Given the description of an element on the screen output the (x, y) to click on. 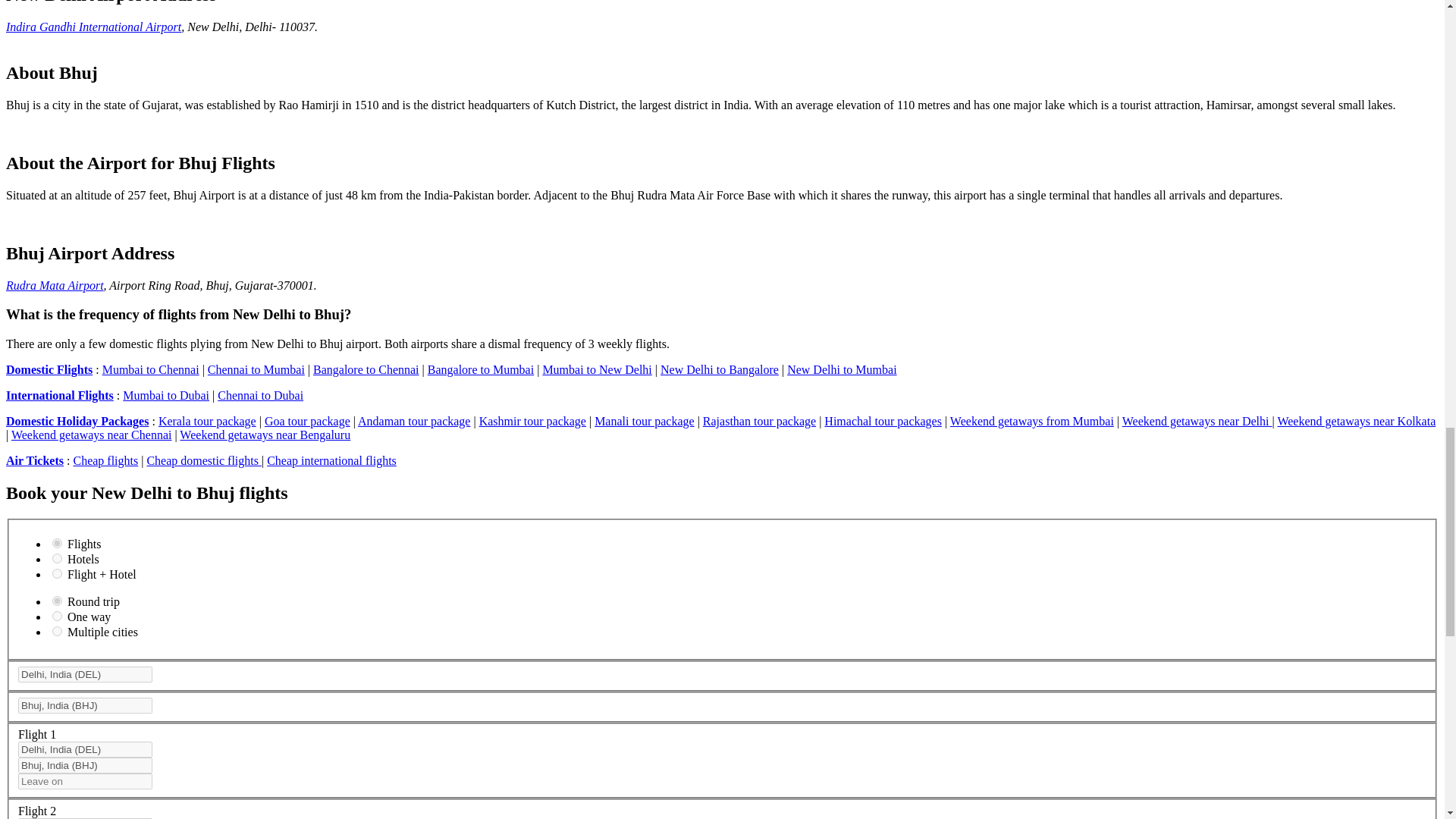
3 (57, 573)
1 (57, 542)
4 (57, 631)
0 (57, 615)
2 (57, 558)
1 (57, 601)
